Given the description of an element on the screen output the (x, y) to click on. 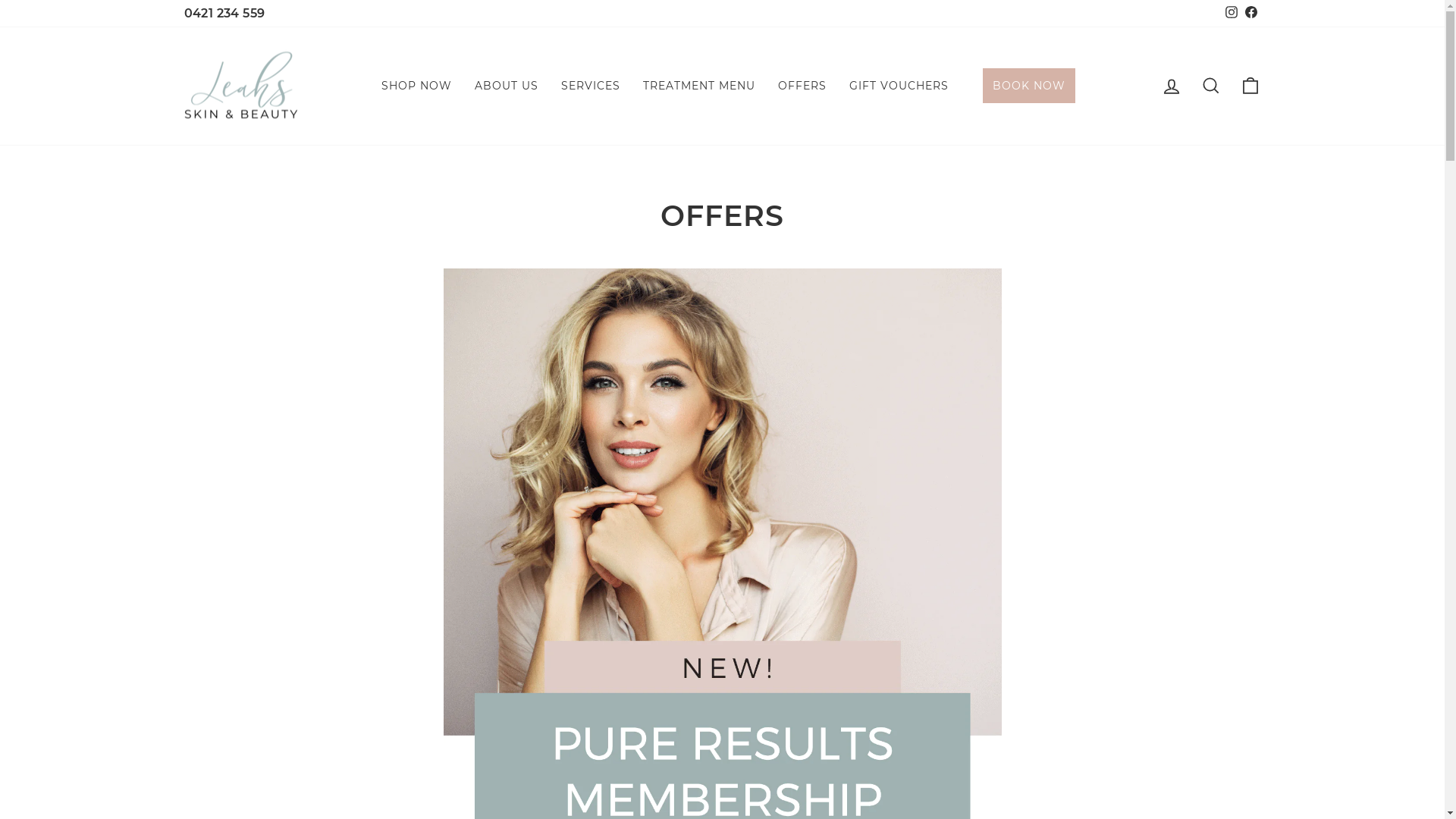
SERVICES Element type: text (589, 85)
TREATMENT MENU Element type: text (697, 85)
LOG IN Element type: text (1170, 85)
Skip to content Element type: text (0, 0)
GIFT VOUCHERS Element type: text (898, 85)
SEARCH Element type: text (1210, 85)
0421 234 559 Element type: text (223, 13)
BOOK NOW Element type: text (1028, 85)
ABOUT US Element type: text (505, 85)
CART Element type: text (1249, 85)
Facebook Element type: text (1250, 13)
Instagram Element type: text (1230, 13)
OFFERS Element type: text (801, 85)
SHOP NOW Element type: text (416, 85)
